Given the description of an element on the screen output the (x, y) to click on. 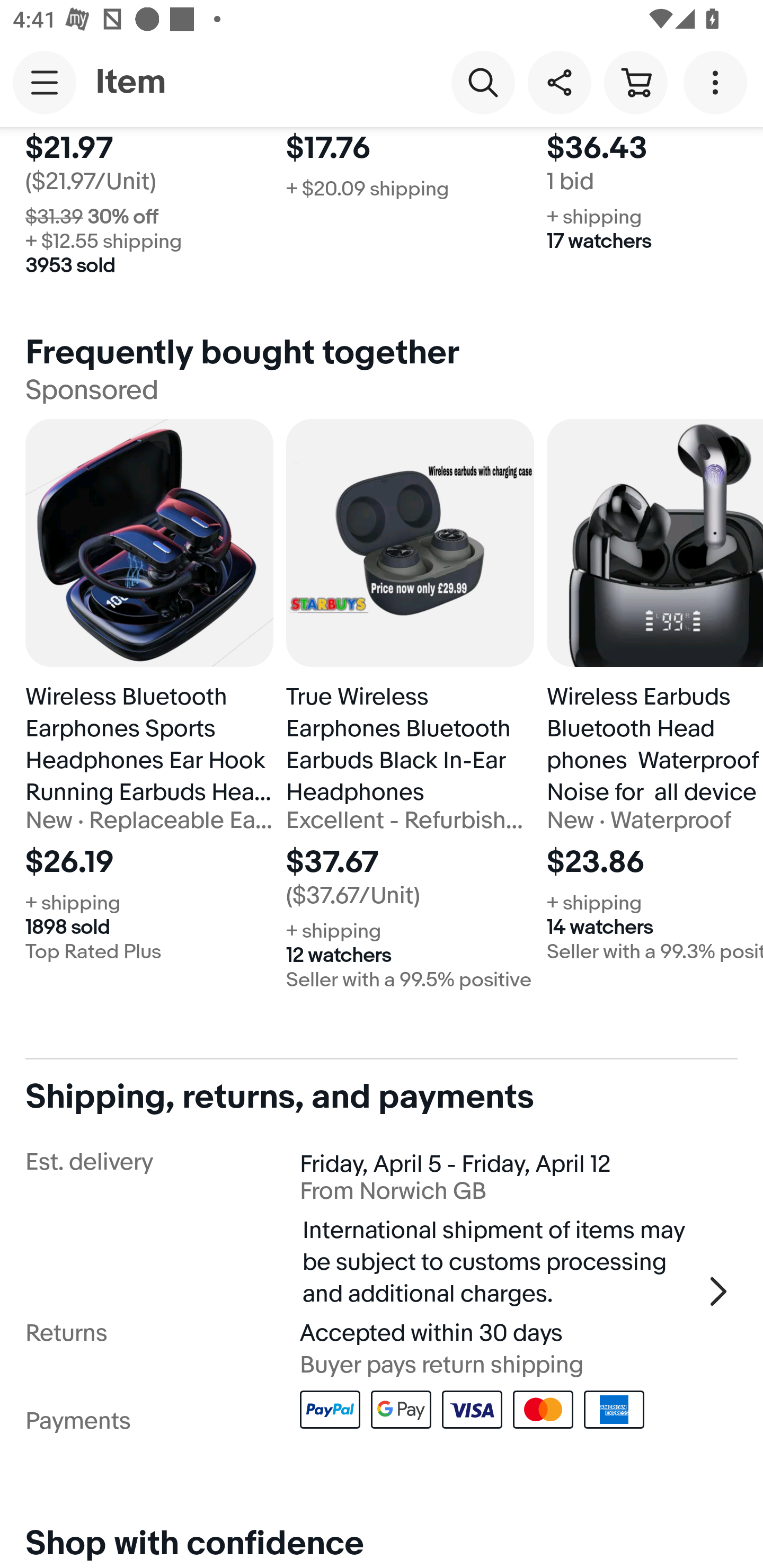
Main navigation, open (44, 82)
Search (482, 81)
Share this item (559, 81)
Cart button shopping cart (635, 81)
More options (718, 81)
$17.76 + $20.09 shipping + $20.09 shipping (410, 210)
